Given the description of an element on the screen output the (x, y) to click on. 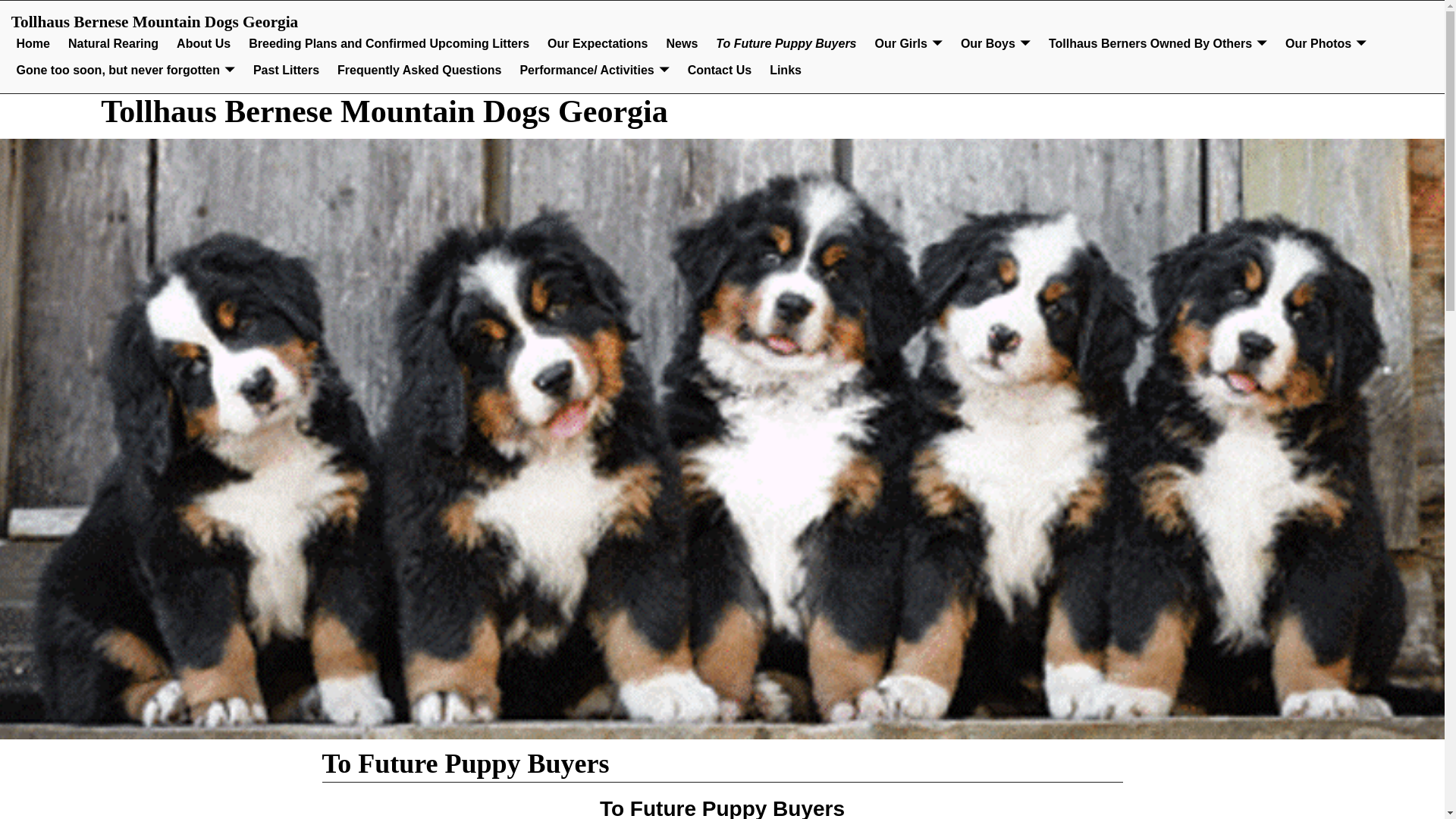
Breeding Plans and Confirmed Upcoming Litters (389, 44)
Tollhaus Bernese Mountain Dogs Georgia (154, 22)
News (682, 44)
Tollhaus Berners Owned By Others (1157, 44)
Our Boys (995, 44)
Our Photos (1325, 44)
Home (33, 44)
About Us (203, 44)
Gone too soon, but never forgotten (125, 70)
Our Expectations (597, 44)
Tollhaus Bernese Mountain Dogs Georgia (384, 111)
To Future Puppy Buyers (785, 44)
Tollhaus Bernese Mountain Dogs Georgia (384, 111)
Home (33, 44)
Natural Rearing (113, 44)
